Given the description of an element on the screen output the (x, y) to click on. 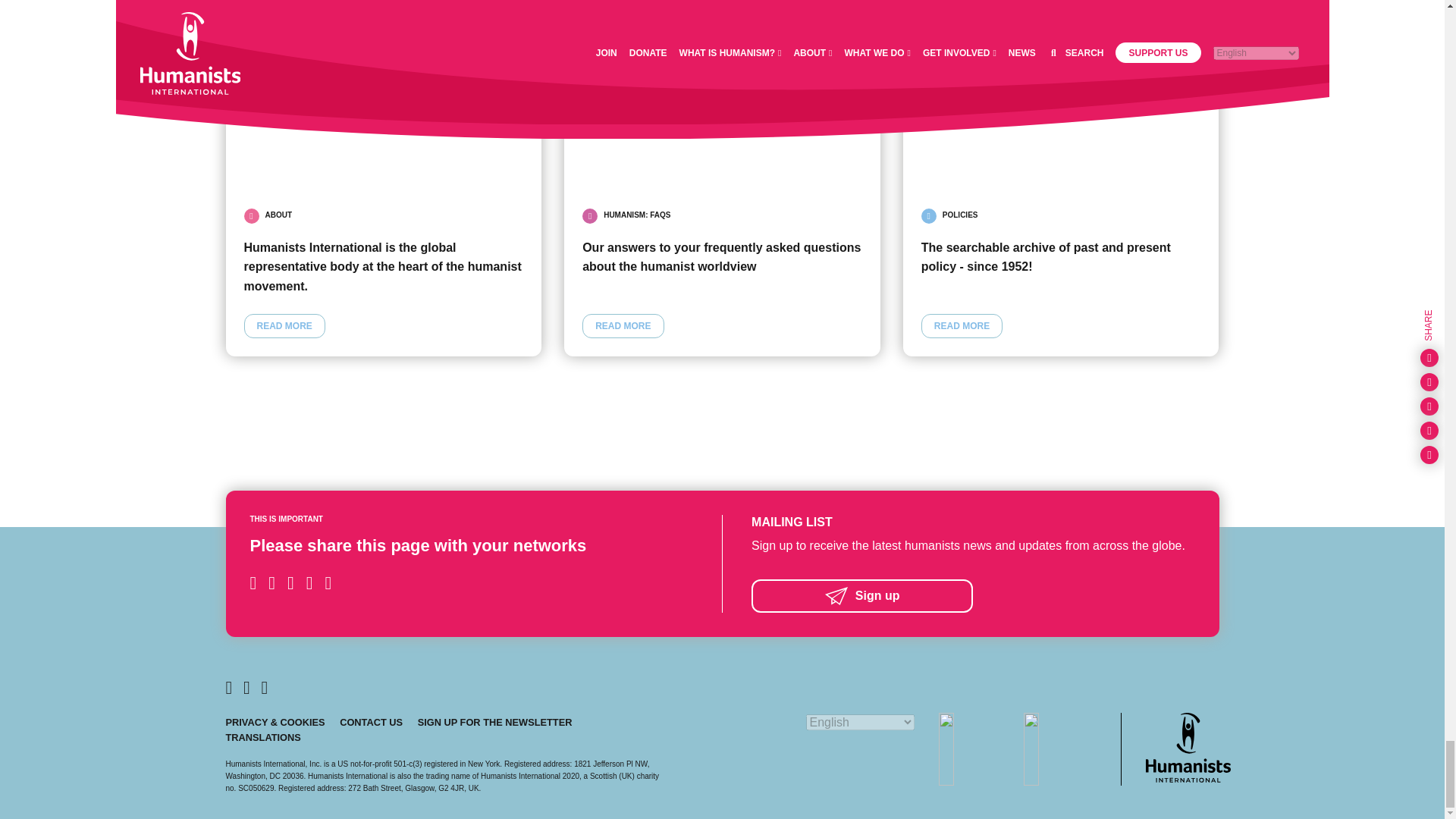
 Policies (962, 325)
Humanists Logo (1187, 747)
Sign up (972, 595)
 About (284, 325)
 Policies (960, 214)
 About (383, 96)
 Humanism: FAQs (622, 325)
 Humanism: FAQs (636, 214)
Guidestar US (1059, 748)
Scottish Charity Regulator (975, 748)
 Humanism: FAQs (722, 96)
 Policies (1061, 96)
 About (278, 214)
